Given the description of an element on the screen output the (x, y) to click on. 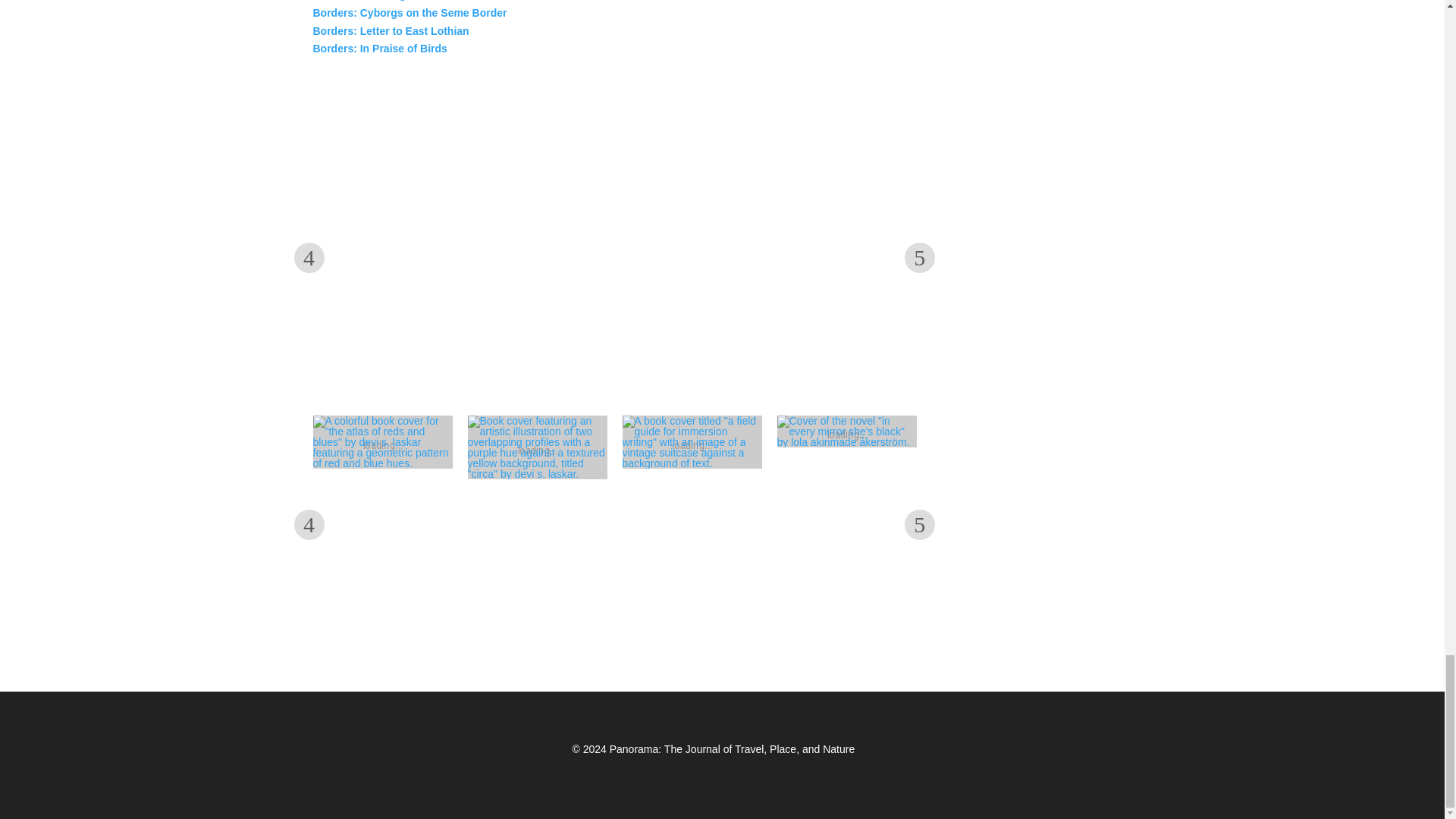
Borders: Cyborgs on the Seme Border (409, 12)
Borders: Letter to East Lothian (390, 30)
Borders: In Praise of Birds (379, 48)
